Given the description of an element on the screen output the (x, y) to click on. 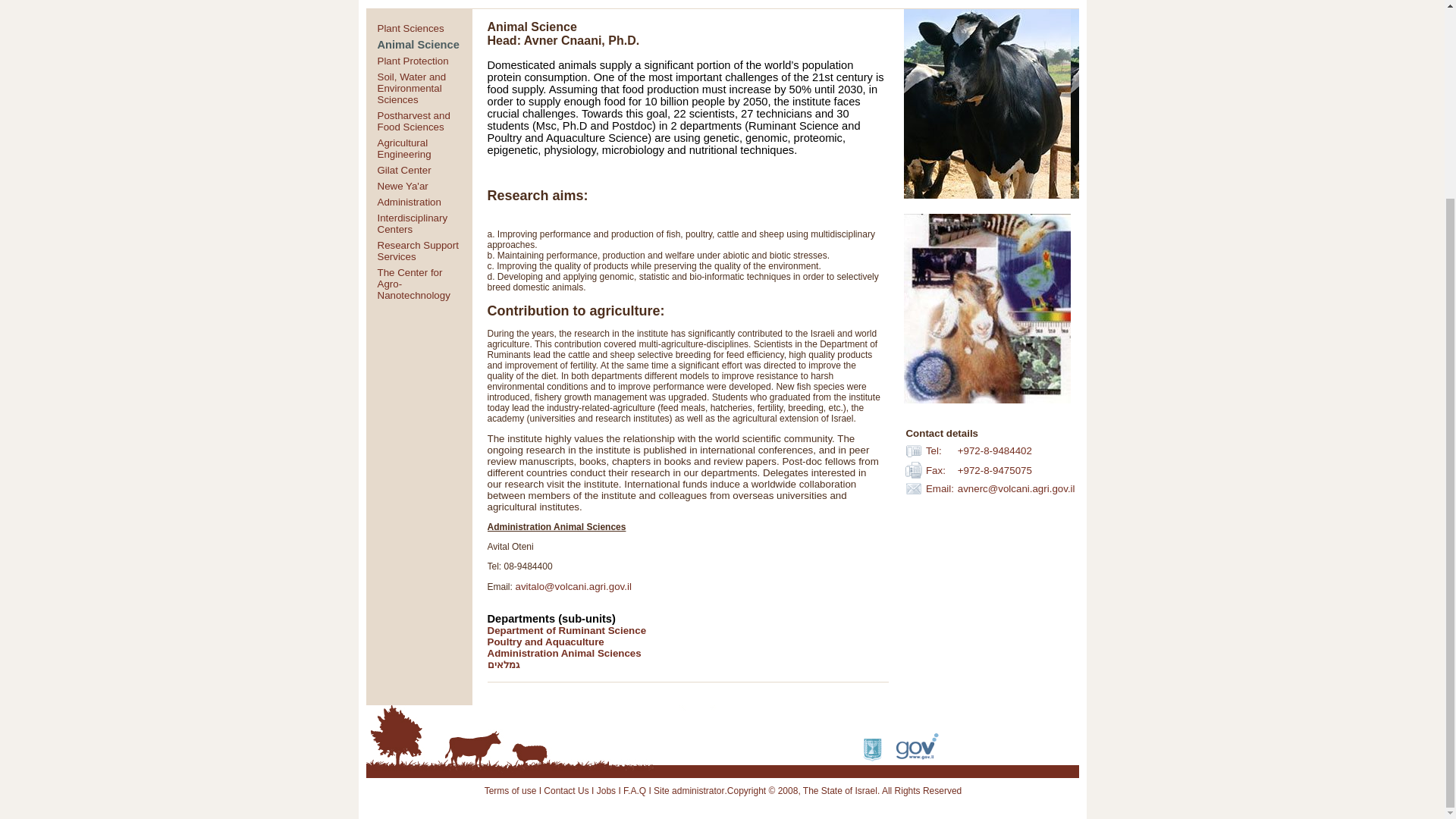
Postharvest and Food Sciences (413, 120)
Plant Sciences (410, 28)
Interdisciplinary Centers (412, 223)
Newe Ya'ar (402, 185)
Terms of use (511, 790)
Animal Science (418, 44)
The Center for Agro-Nanotechnology (413, 283)
Gilat Center (403, 170)
Poultry and Aquaculture (545, 641)
Administration (409, 202)
